Given the description of an element on the screen output the (x, y) to click on. 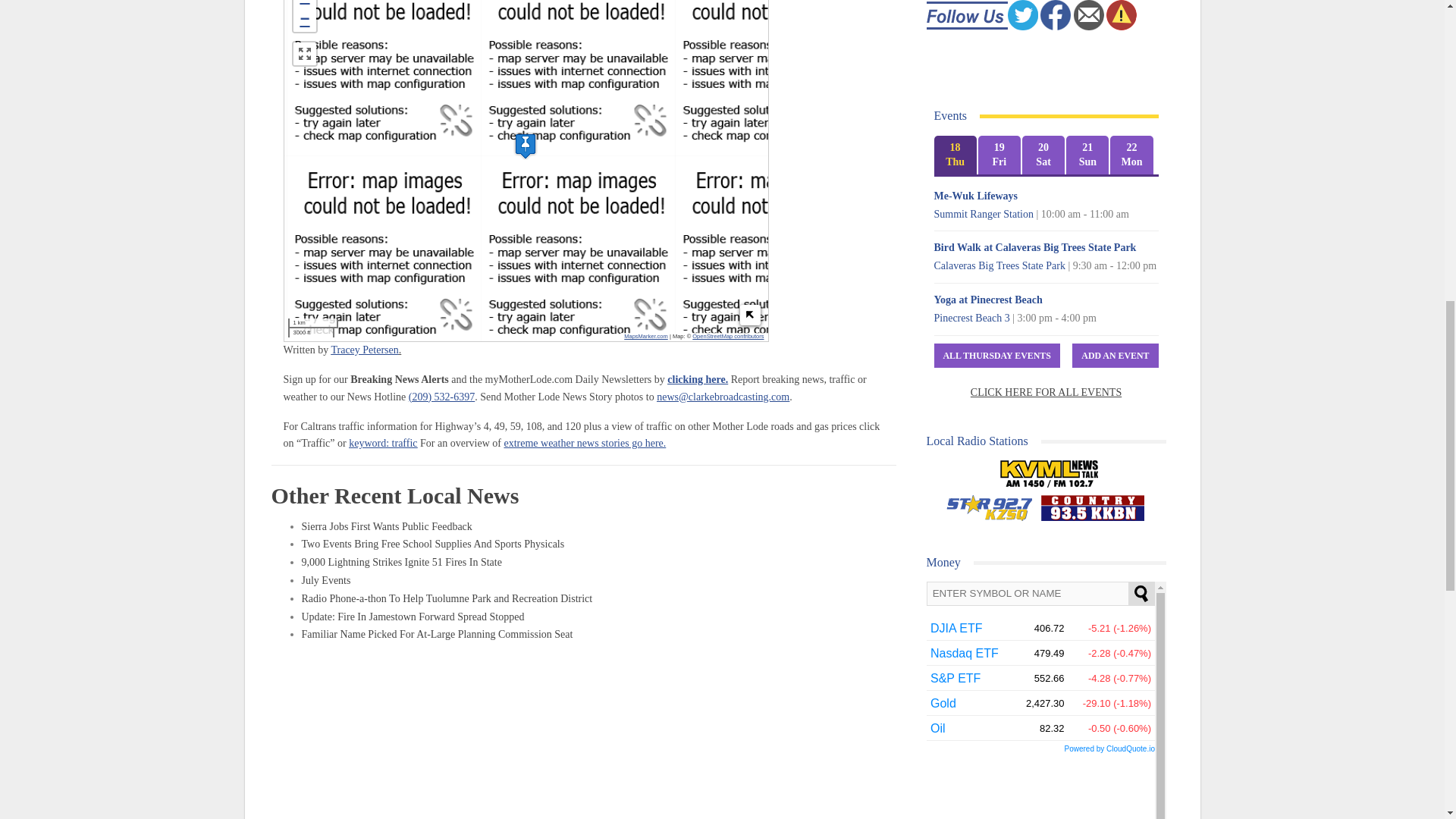
Add An Event (1114, 355)
Show minimap (749, 314)
Zoom out (303, 20)
Zoom in (303, 4)
View fullscreen (303, 53)
All Thursday Events (996, 355)
